Given the description of an element on the screen output the (x, y) to click on. 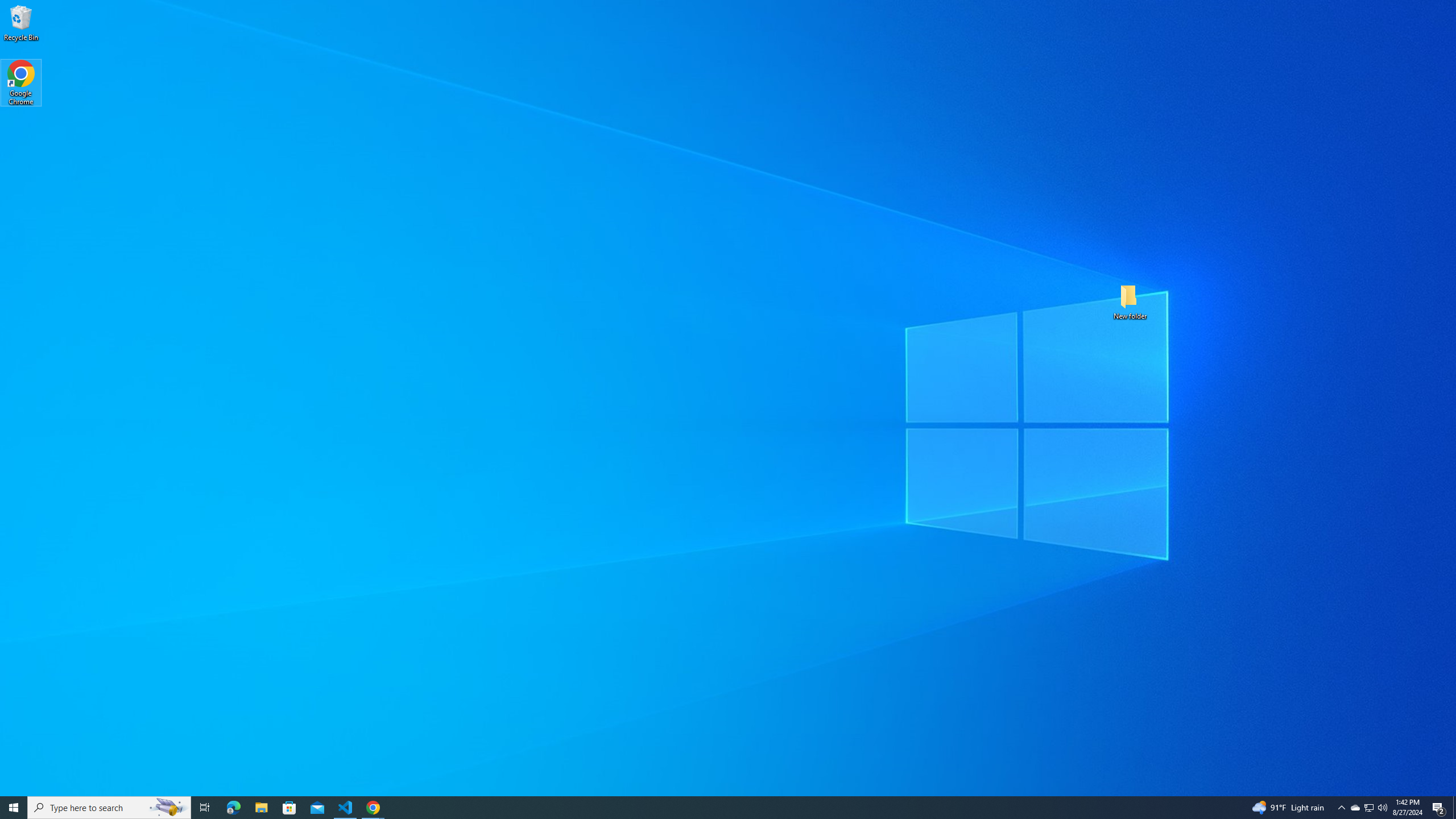
New folder (1130, 301)
Recycle Bin (21, 22)
Google Chrome (21, 82)
